Given the description of an element on the screen output the (x, y) to click on. 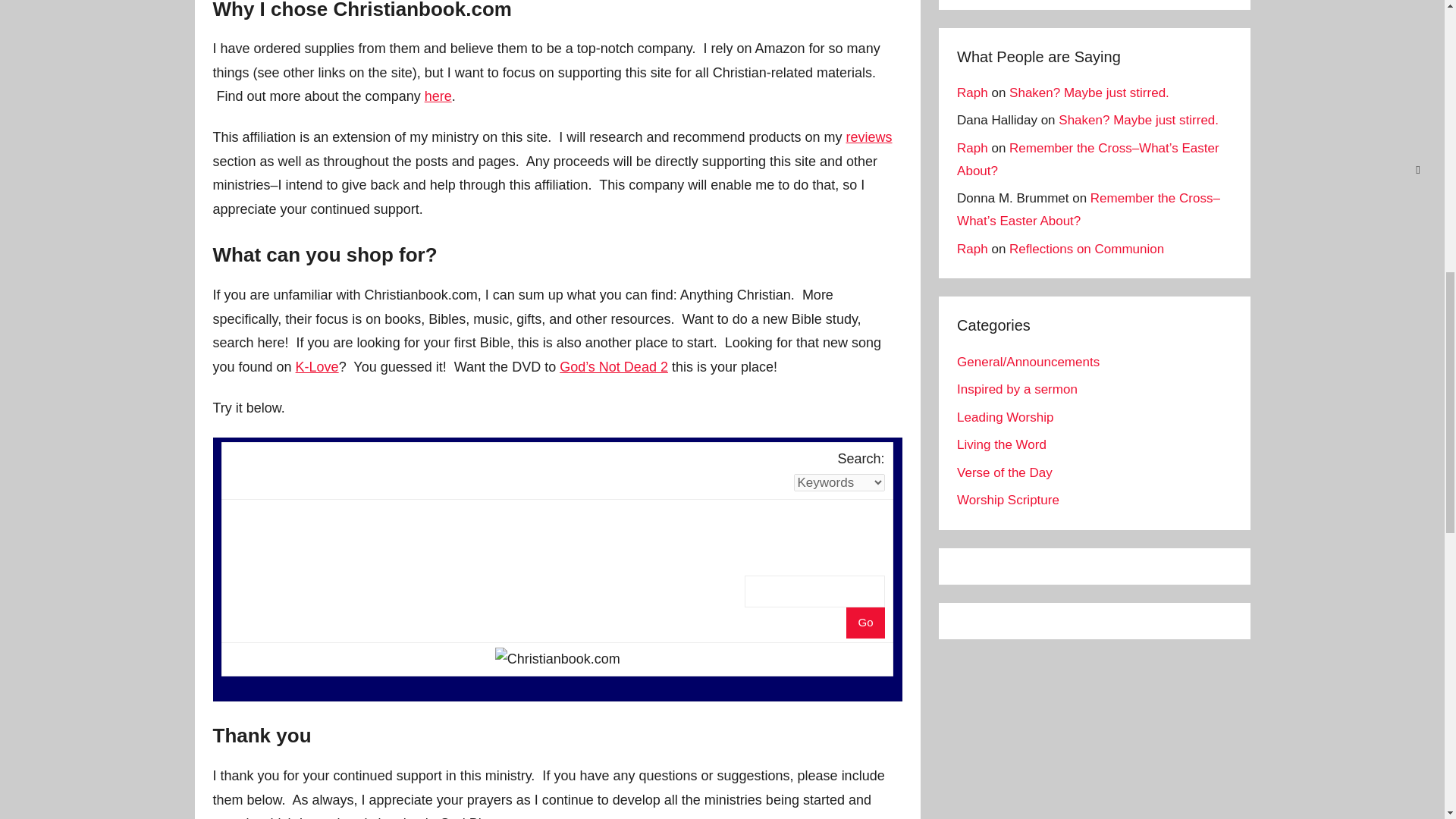
K-Love (317, 366)
Go (864, 622)
Go (864, 622)
here (438, 96)
reviews (868, 136)
